Given the description of an element on the screen output the (x, y) to click on. 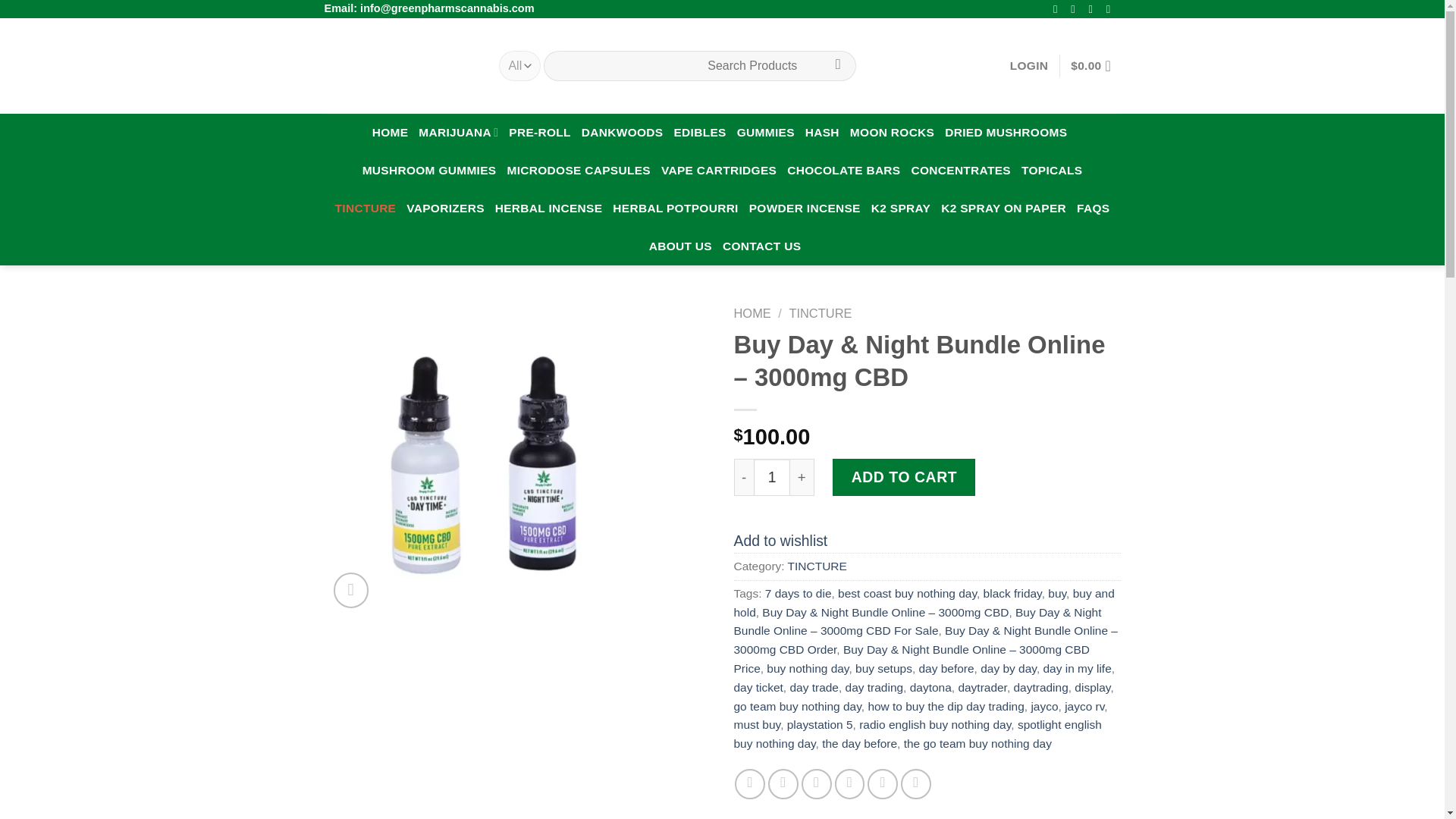
Send us an email (1112, 9)
LOGIN (1029, 65)
MARIJUANA (458, 132)
HASH (822, 132)
VAPE CARTRIDGES (718, 170)
PRE-ROLL (539, 132)
Follow on Facebook (1058, 9)
MOON ROCKS (892, 132)
CONTACT US (761, 246)
Follow on Twitter (1093, 9)
